Given the description of an element on the screen output the (x, y) to click on. 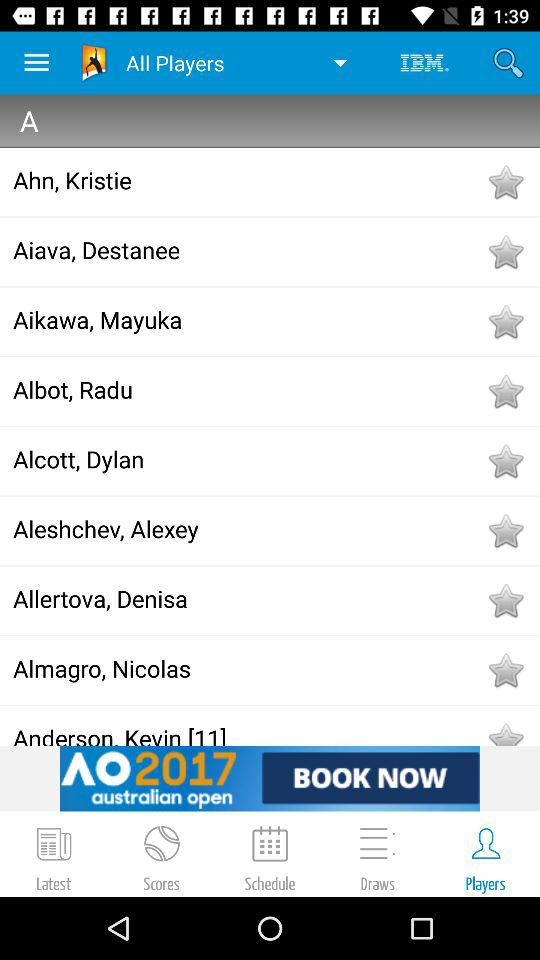
add to favorites (505, 321)
